Given the description of an element on the screen output the (x, y) to click on. 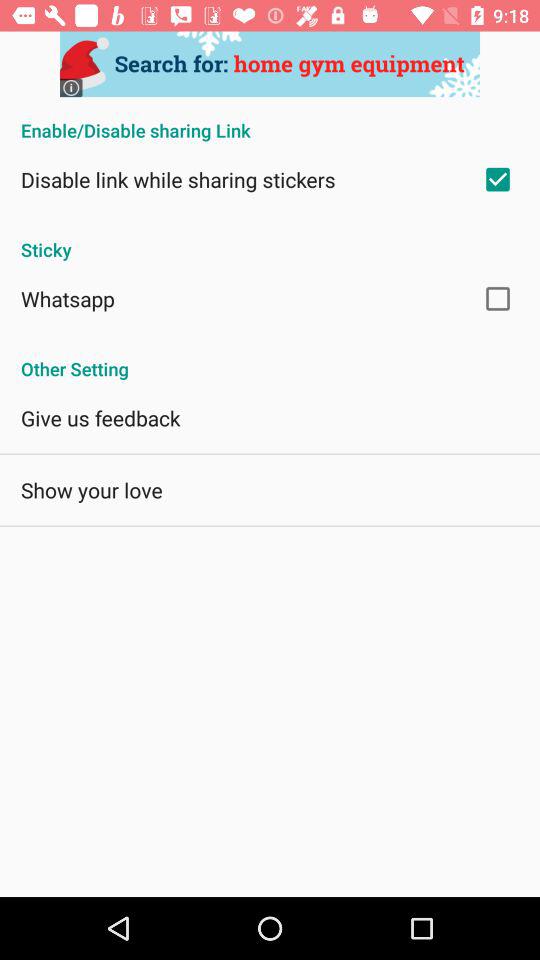
scroll until the show your love icon (91, 489)
